Given the description of an element on the screen output the (x, y) to click on. 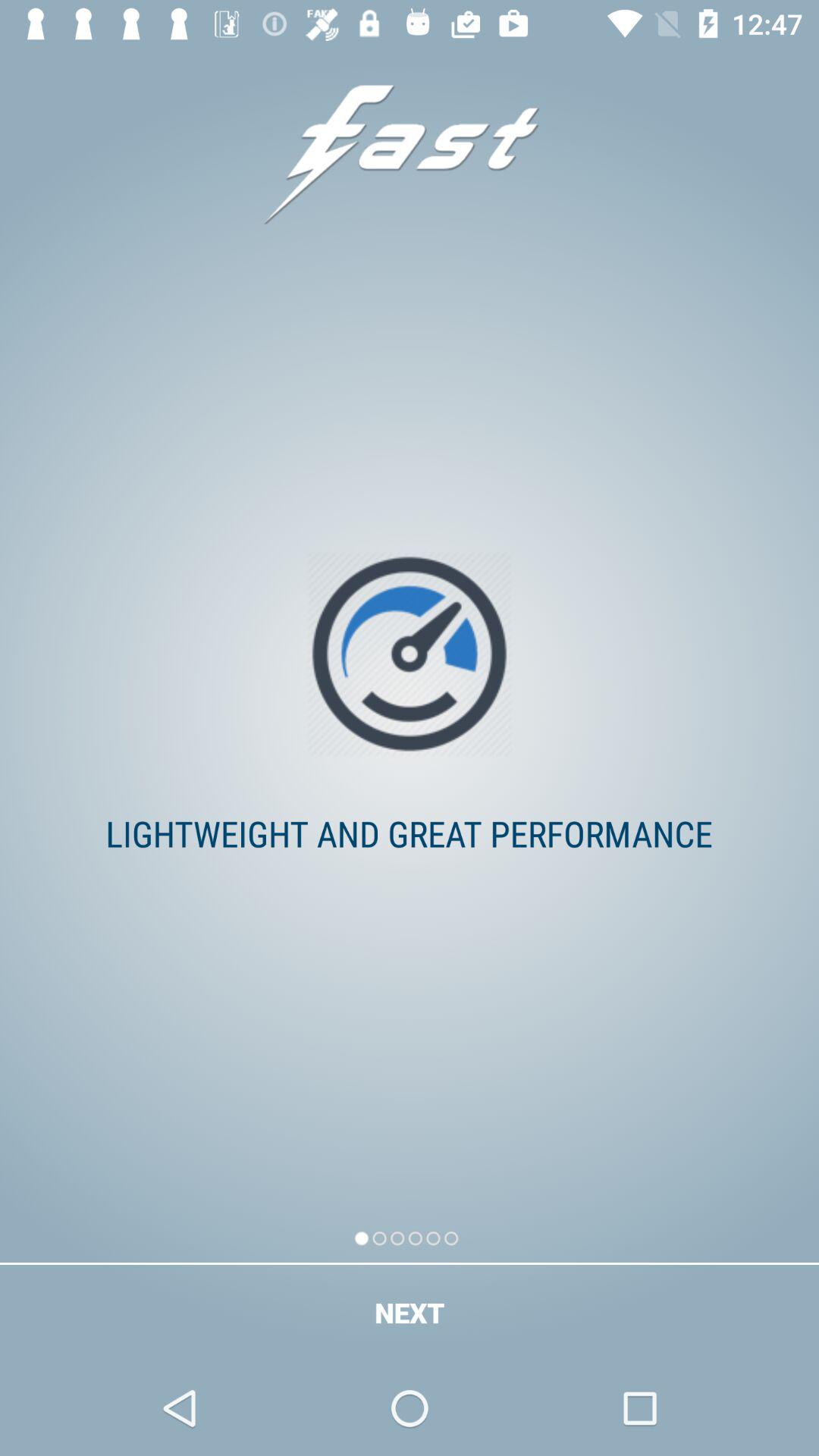
press the next (409, 1312)
